Given the description of an element on the screen output the (x, y) to click on. 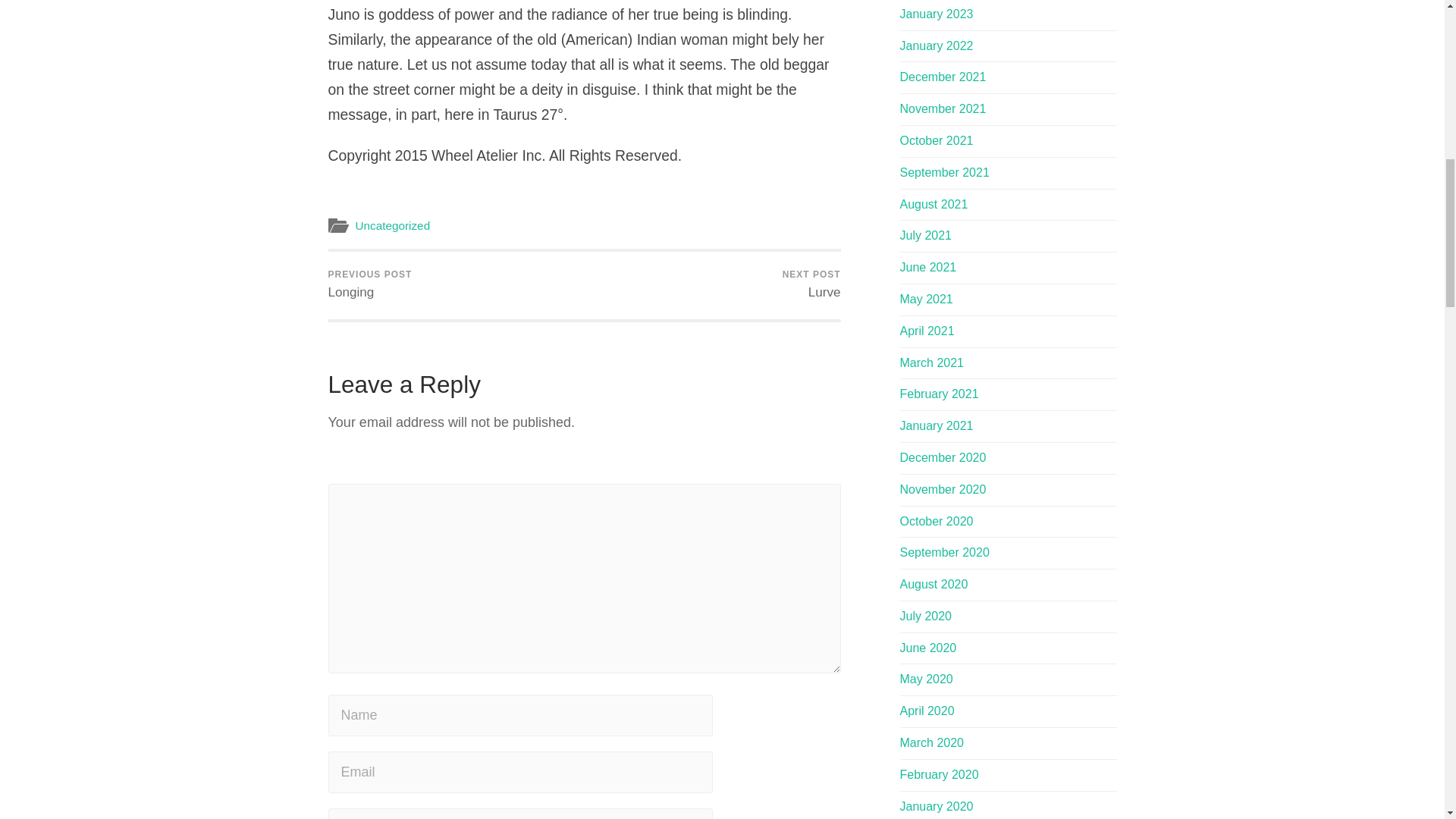
May 2021 (925, 298)
November 2020 (942, 489)
August 2020 (933, 584)
January 2022 (935, 45)
July 2020 (925, 615)
January 2021 (935, 425)
Uncategorized (392, 225)
December 2021 (942, 76)
July 2021 (925, 235)
September 2021 (943, 172)
